Given the description of an element on the screen output the (x, y) to click on. 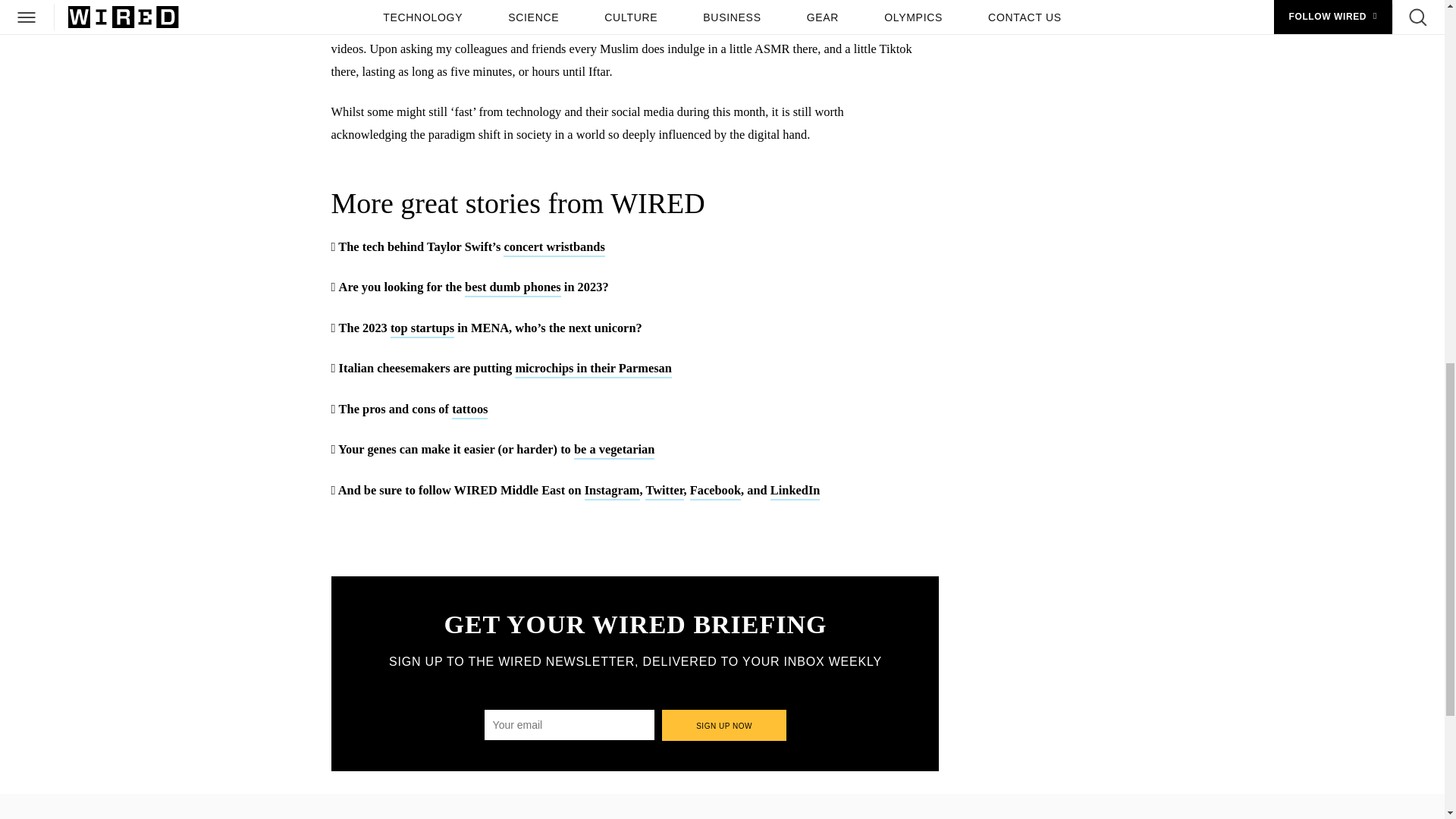
top startups (422, 329)
LinkedIn (795, 491)
be a vegetarian (614, 450)
microchips in their Parmesan (593, 369)
Sign up now (724, 725)
tattoos (469, 410)
Instagram (612, 491)
best dumb phones (512, 288)
concert wristbands (553, 248)
Twitter (663, 491)
